Given the description of an element on the screen output the (x, y) to click on. 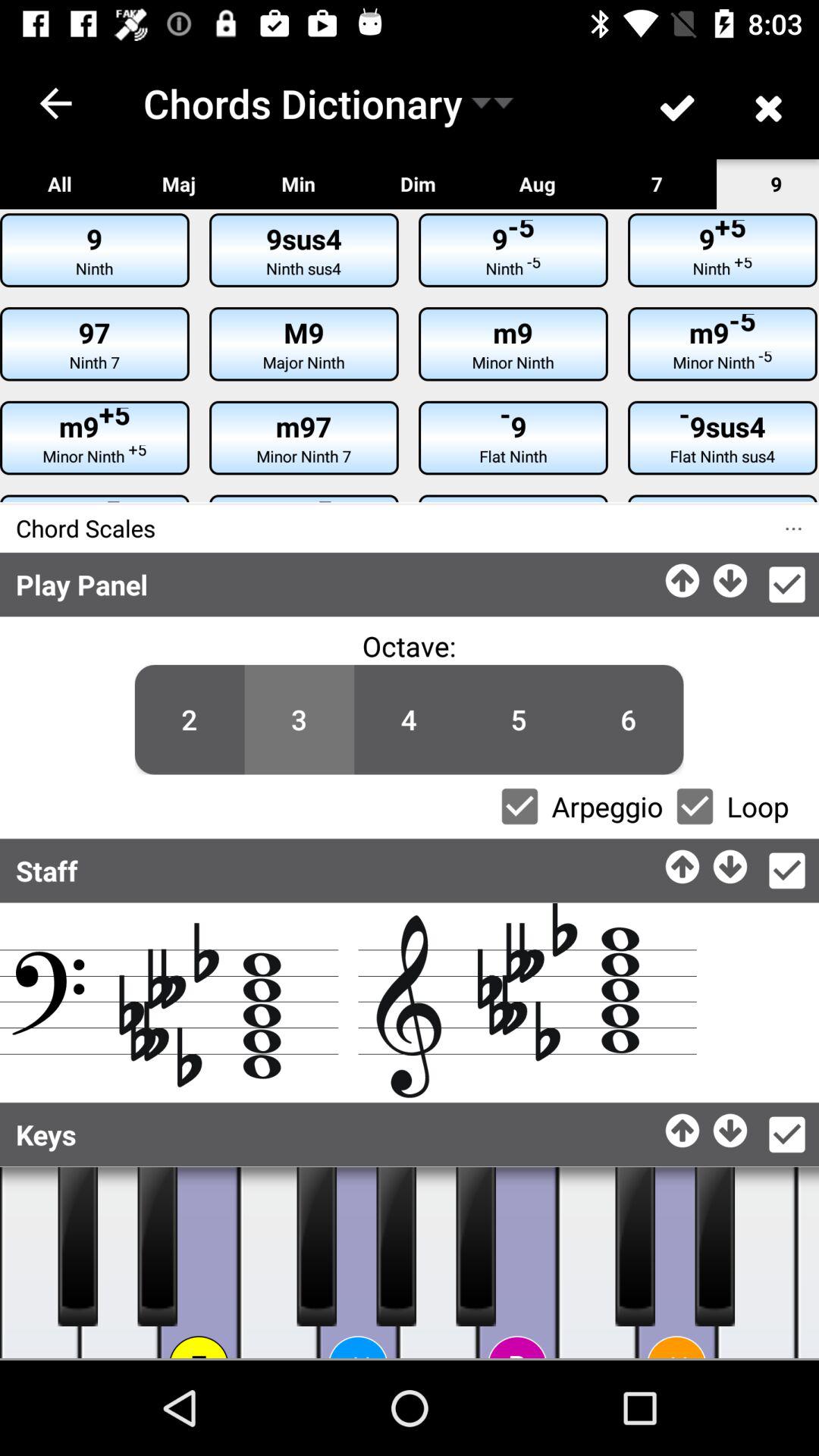
go to play (119, 1262)
